Given the description of an element on the screen output the (x, y) to click on. 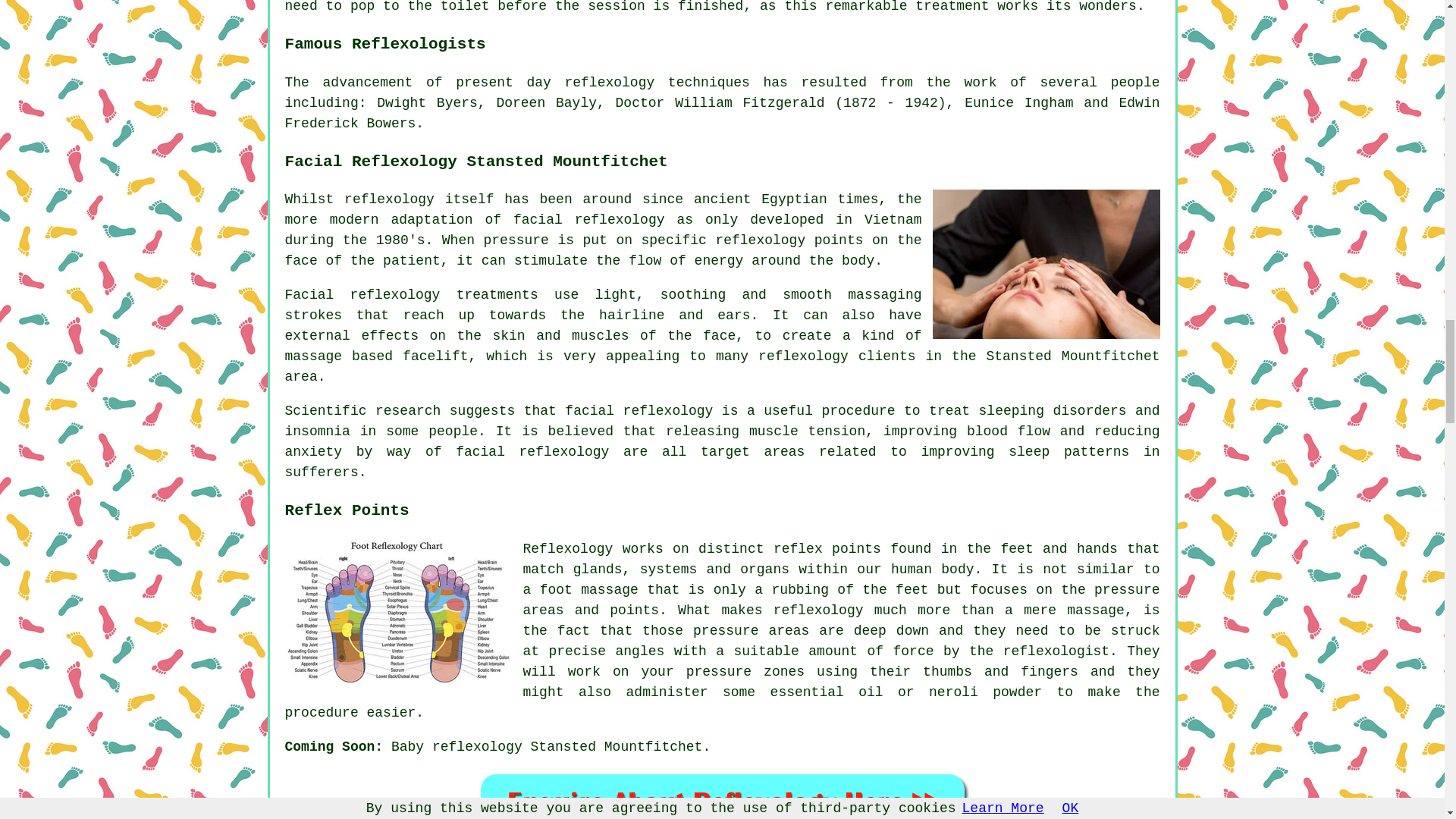
Book a Reflexologist in Stansted Mountfitchet UK (722, 795)
Reflexology Pressure Points (398, 612)
